Given the description of an element on the screen output the (x, y) to click on. 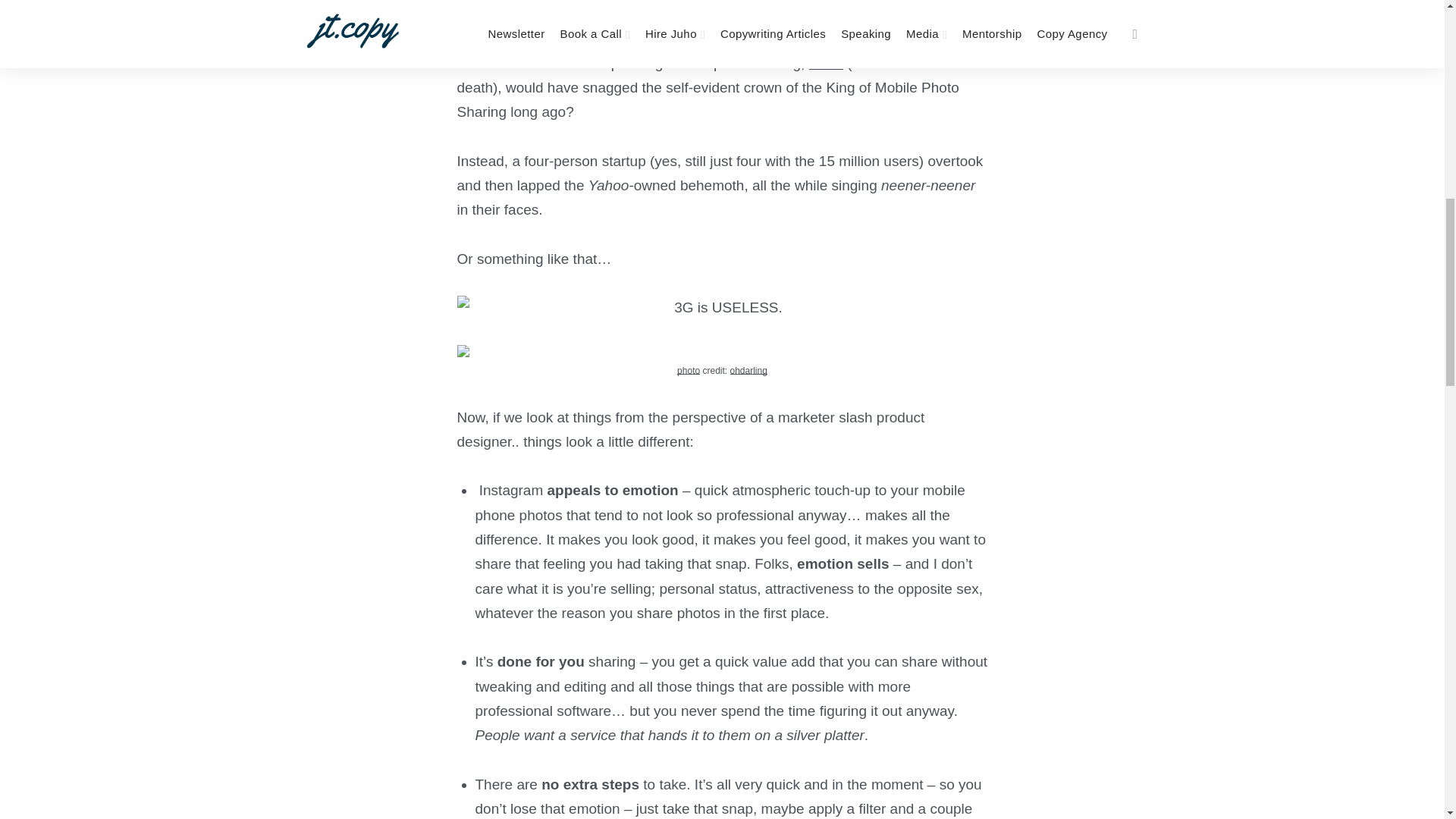
ohdarling (748, 370)
Flickr (826, 63)
photo (688, 370)
